Given the description of an element on the screen output the (x, y) to click on. 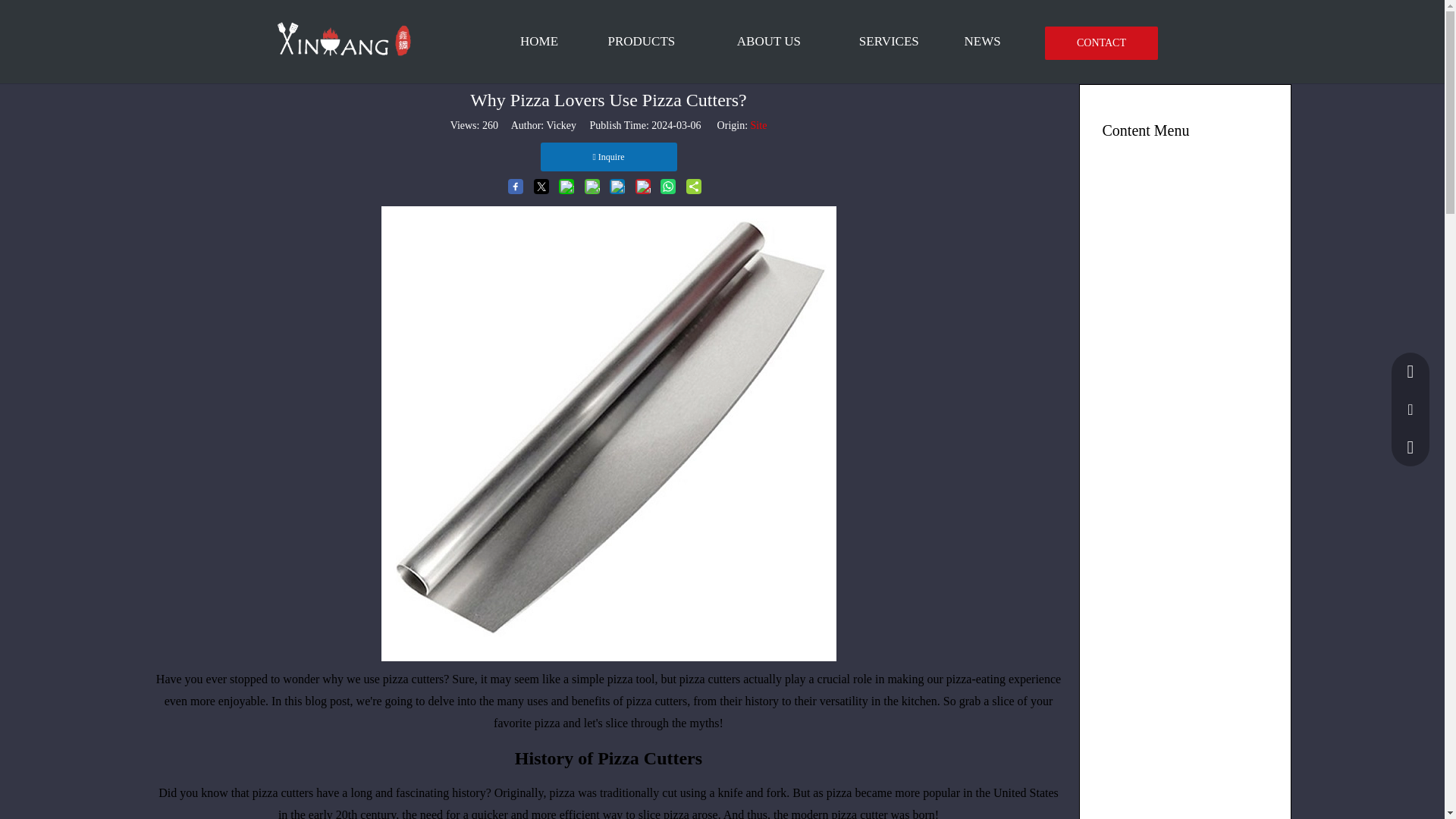
ABOUT US (768, 41)
pizza cutters (413, 678)
NEWS (982, 41)
HOME (538, 41)
Inquire (608, 156)
Site (759, 125)
logo (342, 38)
pizza tool (631, 678)
CONTACT (1101, 42)
SERVICES (889, 41)
pizza cutters (413, 678)
pizza tool (631, 678)
PRODUCTS (641, 41)
